Given the description of an element on the screen output the (x, y) to click on. 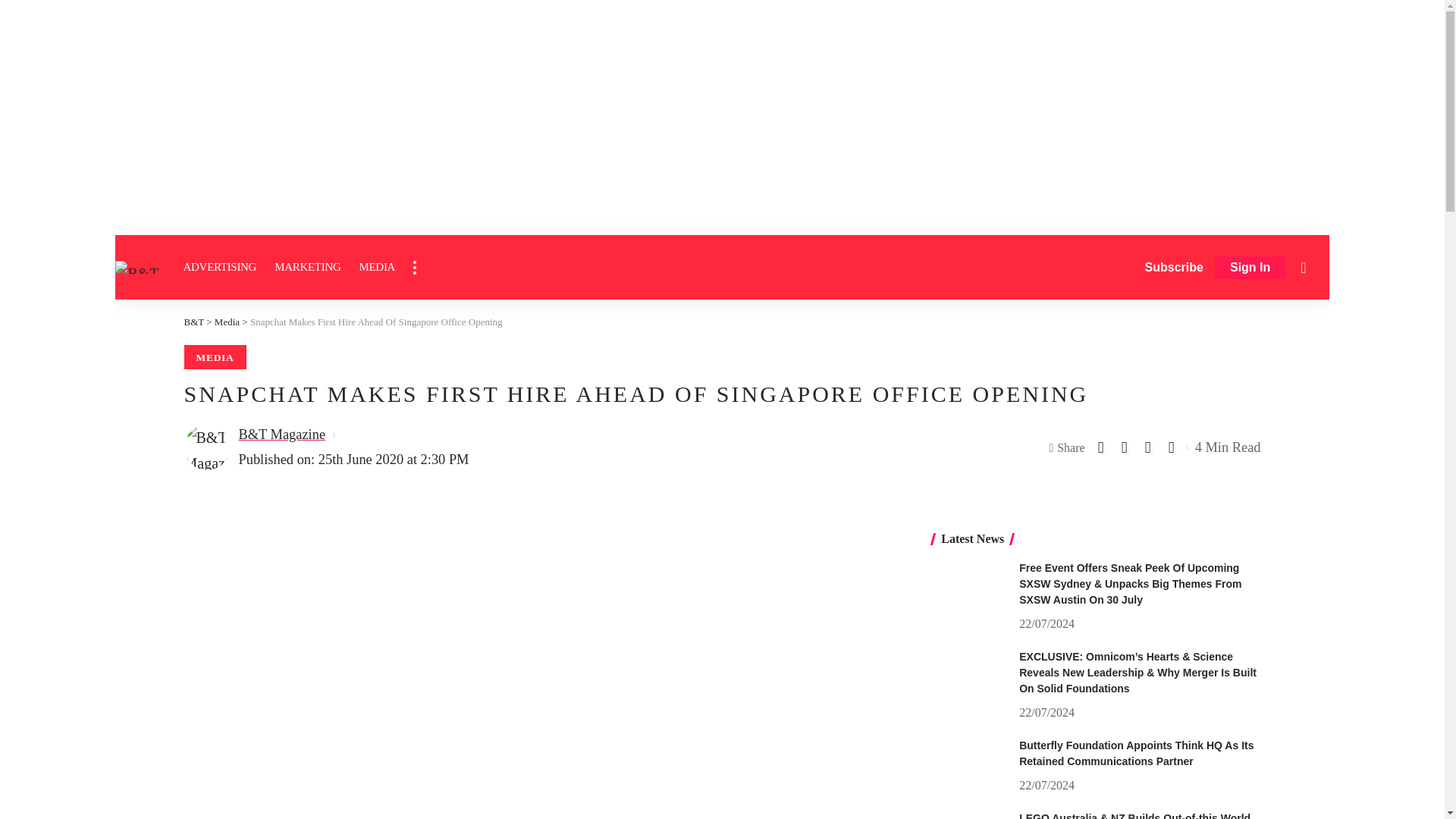
Subscribe (1174, 267)
MARKETING (306, 267)
Sign In (1249, 267)
Go to the Media Category archives. (227, 321)
ADVERTISING (220, 267)
